Given the description of an element on the screen output the (x, y) to click on. 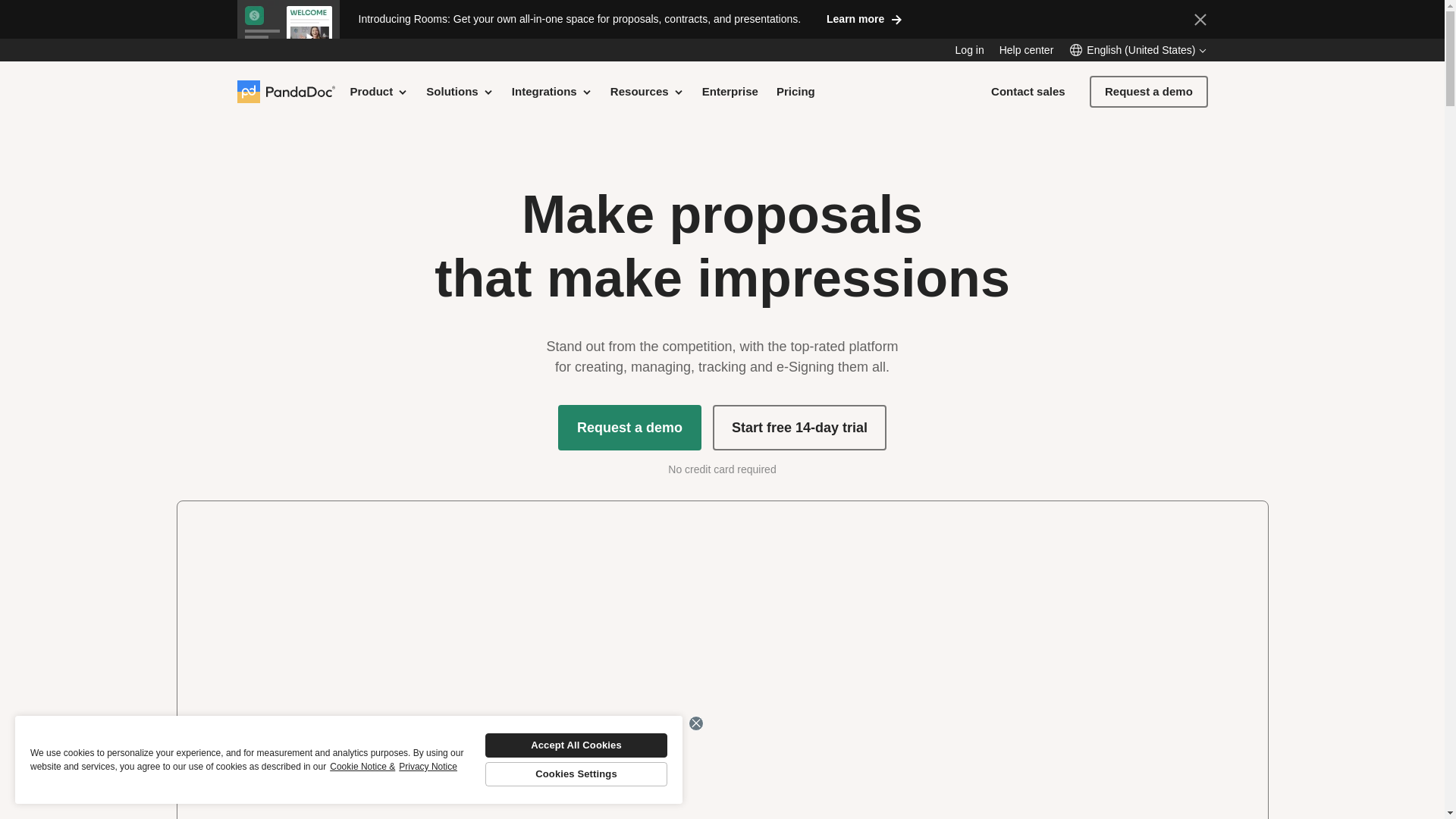
Help center (1026, 50)
Log in (969, 50)
Learn more (864, 18)
Solutions (459, 91)
Product (379, 91)
